Given the description of an element on the screen output the (x, y) to click on. 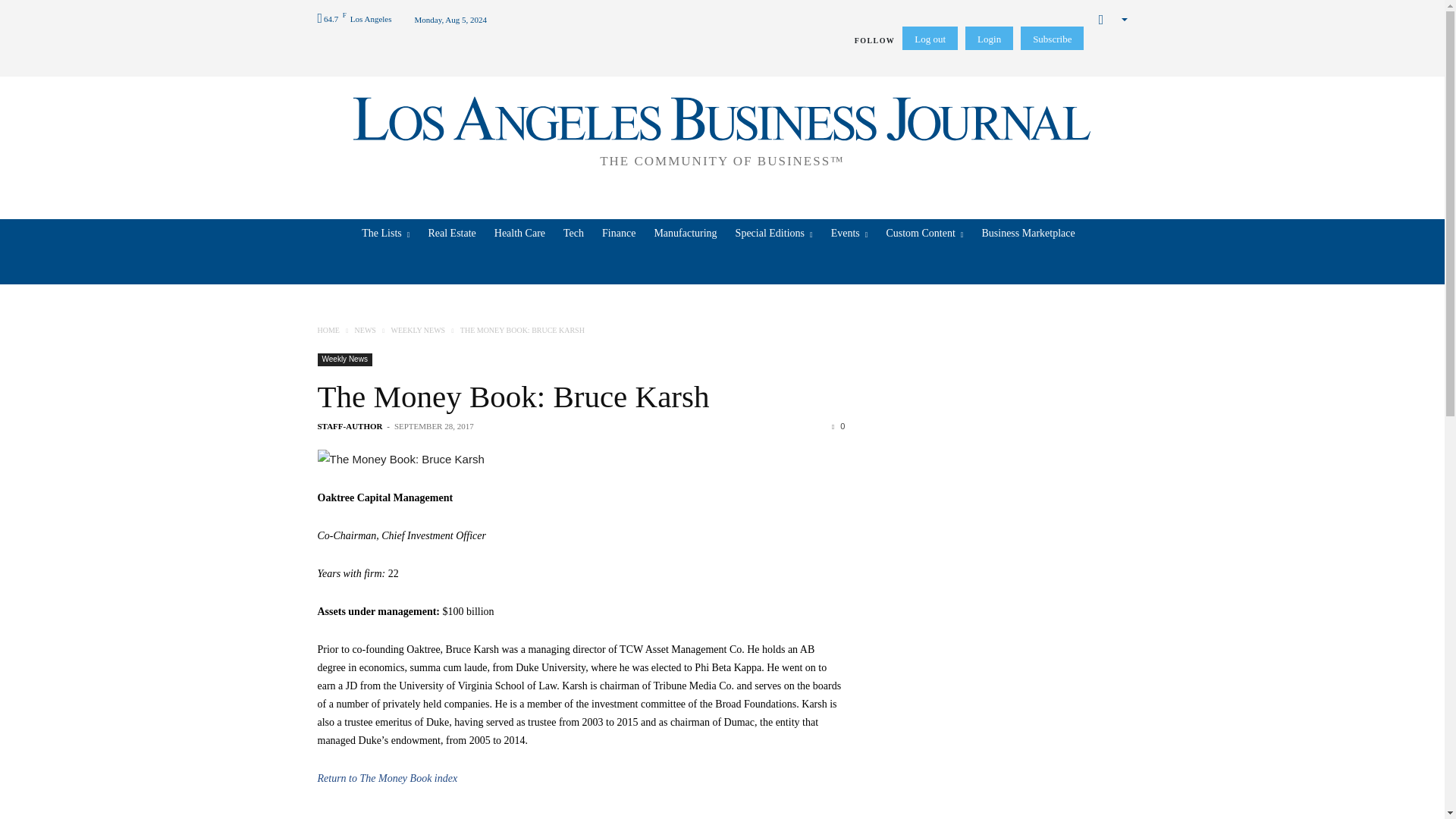
Log out (930, 37)
